Given the description of an element on the screen output the (x, y) to click on. 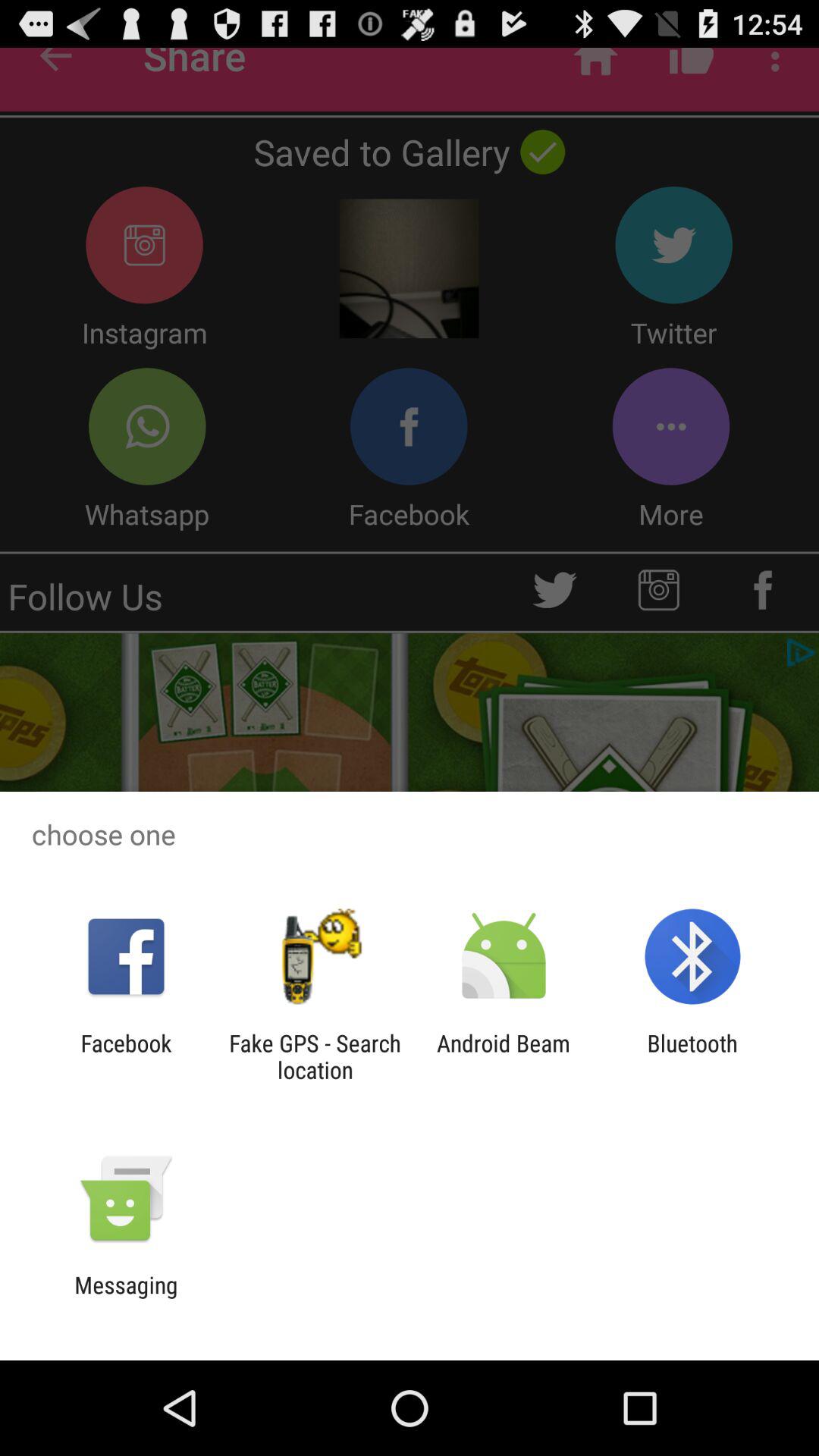
swipe to the messaging item (126, 1298)
